Given the description of an element on the screen output the (x, y) to click on. 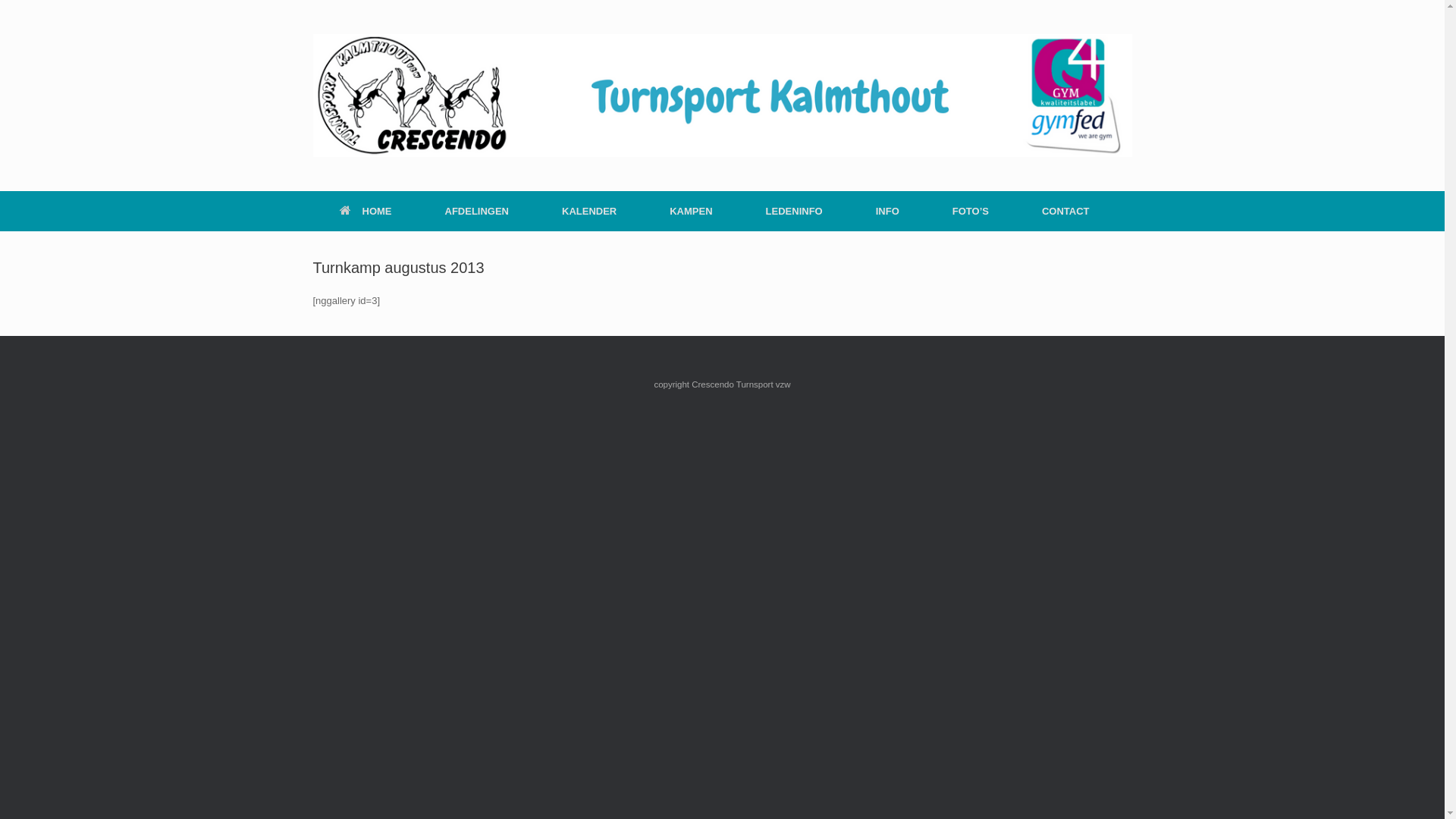
CRESCENDO VZW Element type: hover (721, 95)
LEDENINFO Element type: text (794, 211)
KALENDER Element type: text (589, 211)
KAMPEN Element type: text (690, 211)
CONTACT Element type: text (1065, 211)
INFO Element type: text (887, 211)
HOME Element type: text (364, 211)
AFDELINGEN Element type: text (477, 211)
